Given the description of an element on the screen output the (x, y) to click on. 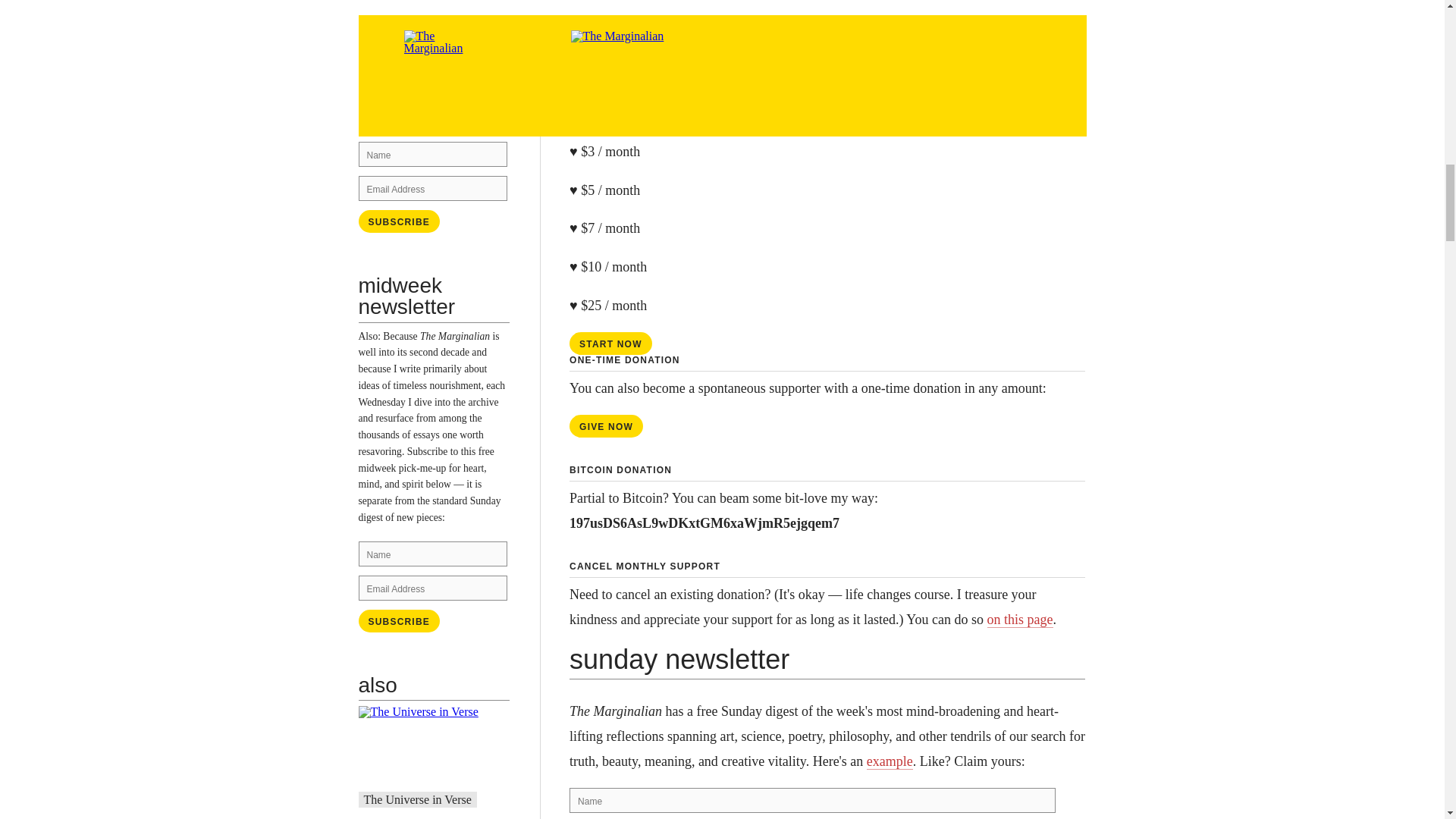
Subscribe (398, 620)
example (449, 101)
Subscribe (398, 620)
Subscribe (398, 220)
The Universe in Verse (417, 799)
Subscribe (398, 220)
